Given the description of an element on the screen output the (x, y) to click on. 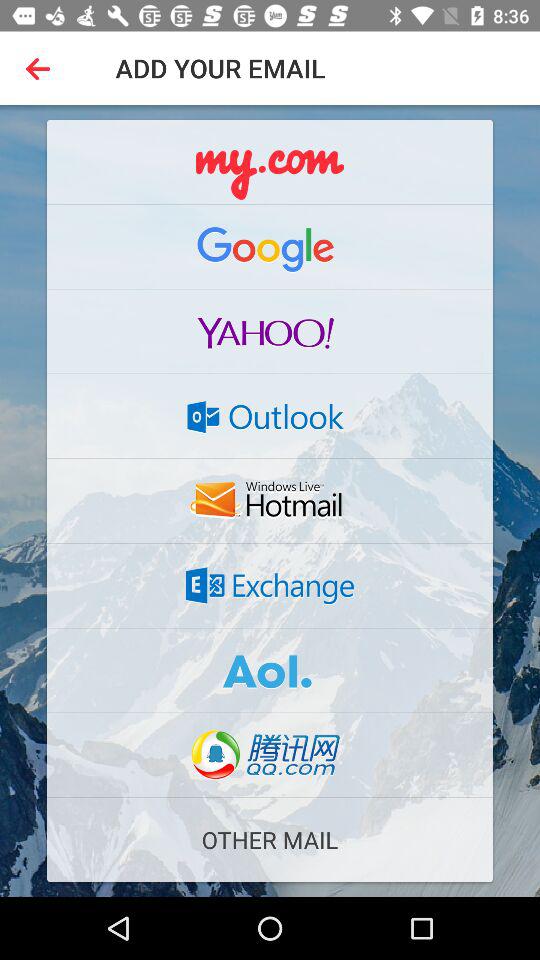
add outlook email (269, 416)
